Given the description of an element on the screen output the (x, y) to click on. 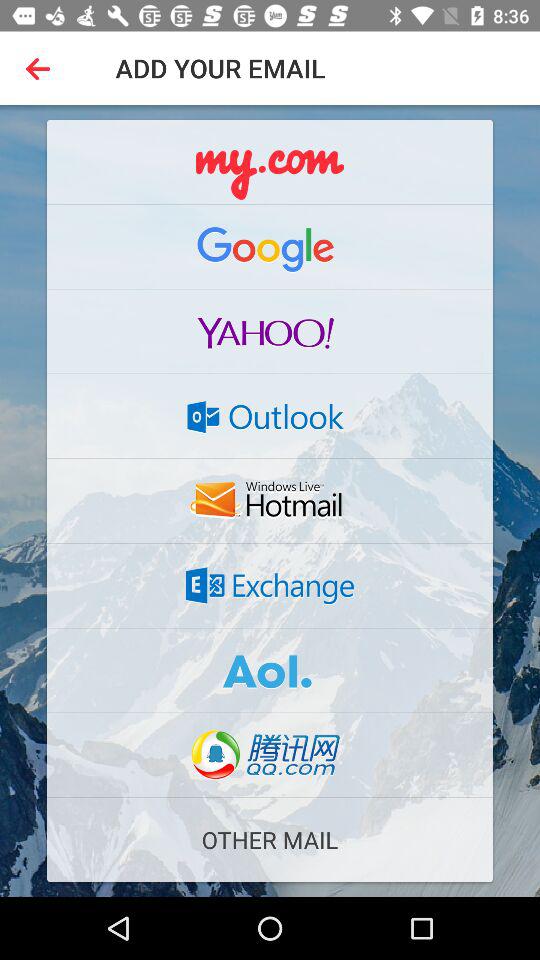
add outlook email (269, 416)
